Given the description of an element on the screen output the (x, y) to click on. 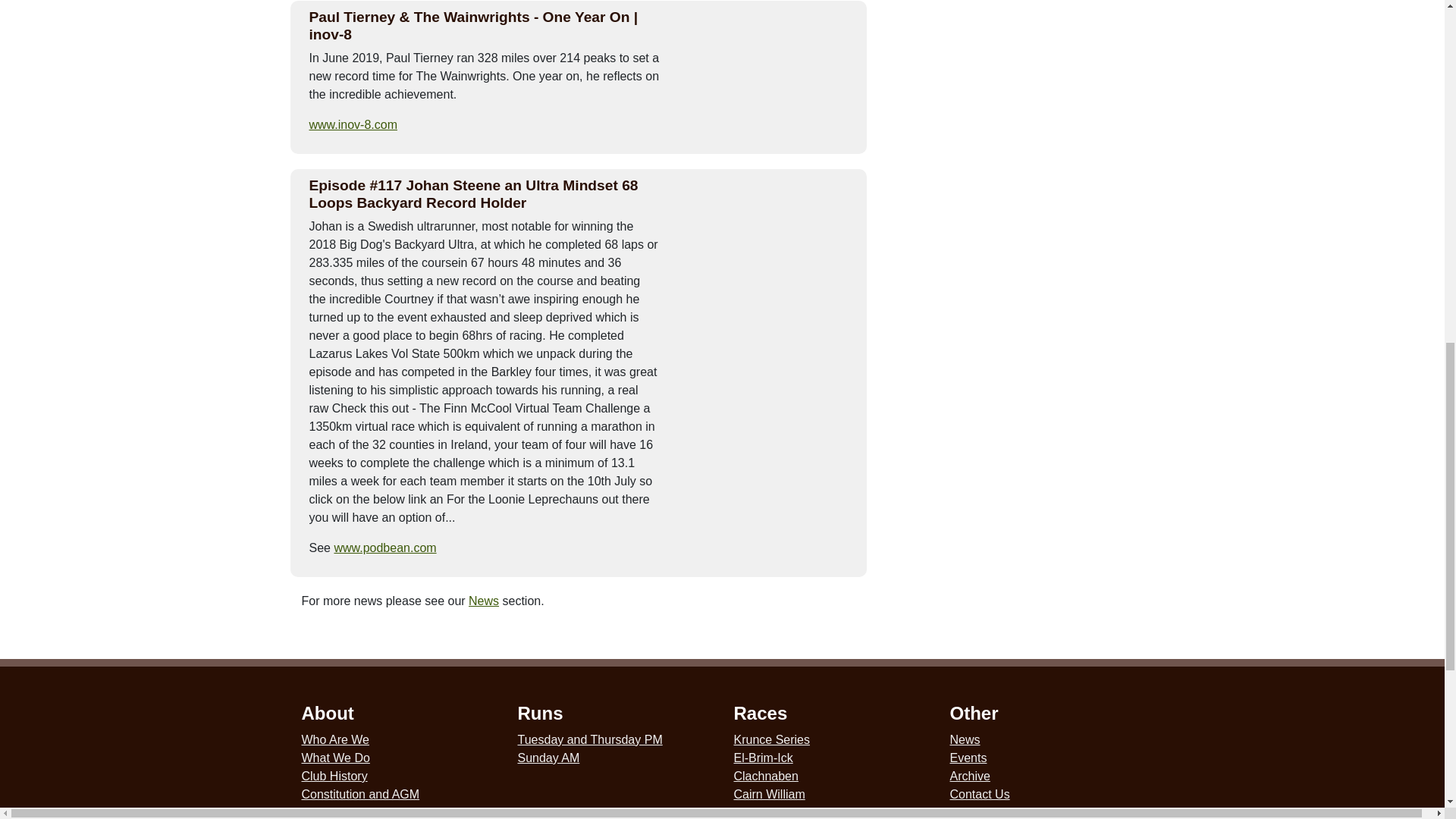
News (483, 600)
What We Do (335, 757)
www.podbean.com (384, 547)
Who Are We (335, 739)
Club History (334, 775)
www.inov-8.com (352, 124)
